Given the description of an element on the screen output the (x, y) to click on. 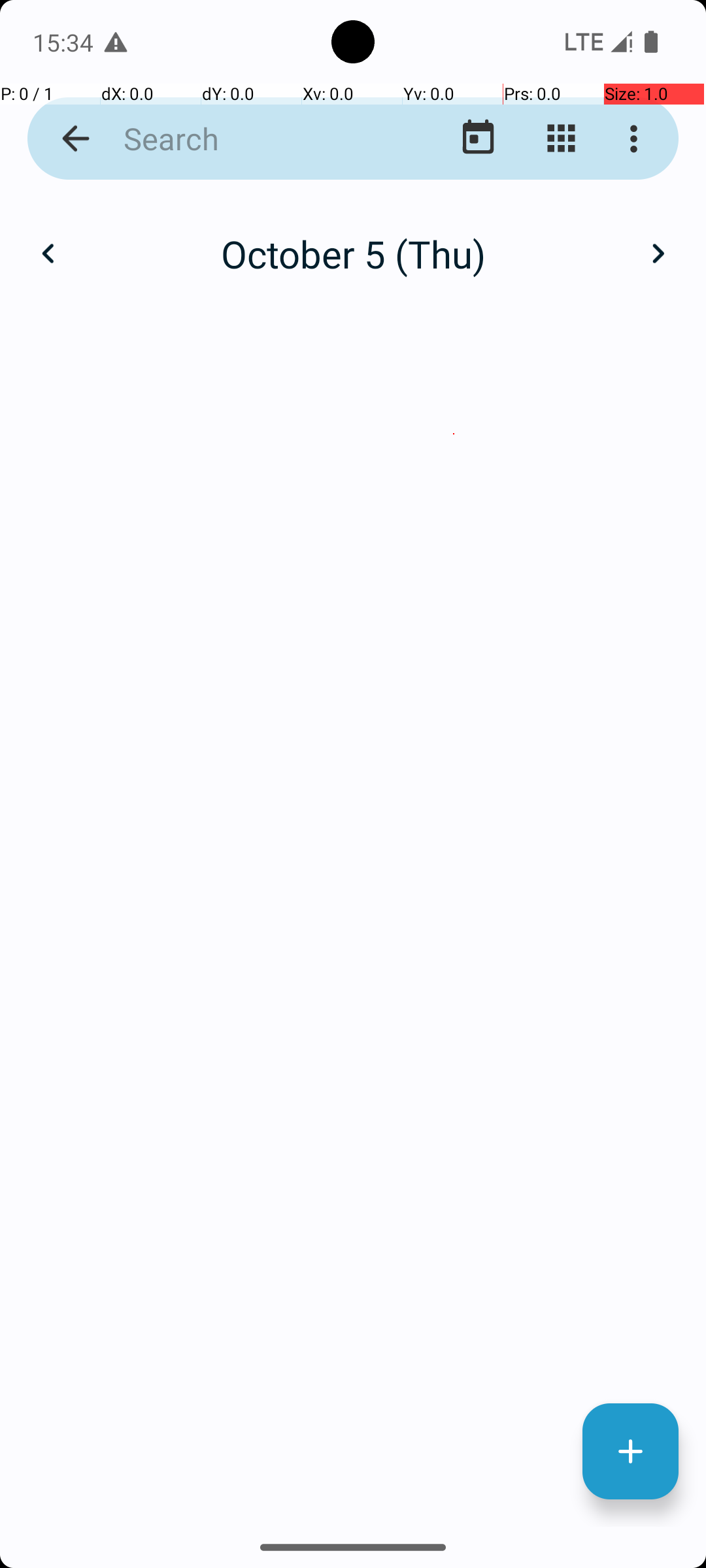
October 5 (Thu) Element type: android.widget.TextView (352, 253)
